Given the description of an element on the screen output the (x, y) to click on. 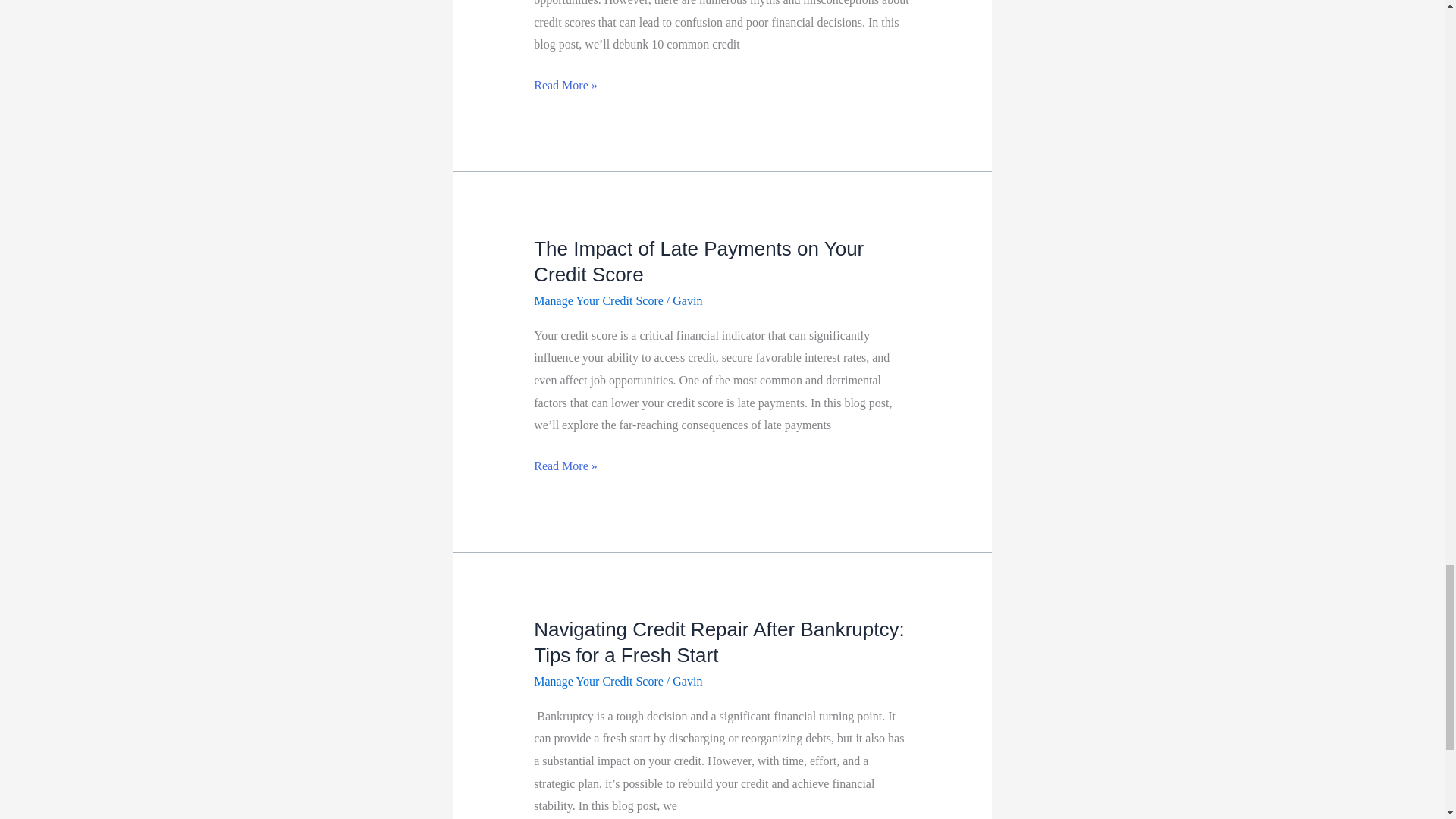
Manage Your Credit Score (598, 300)
Manage Your Credit Score (598, 680)
View all posts by Gavin (686, 300)
Gavin (686, 300)
View all posts by Gavin (686, 680)
Gavin (686, 680)
The Impact of Late Payments on Your Credit Score (698, 261)
